Given the description of an element on the screen output the (x, y) to click on. 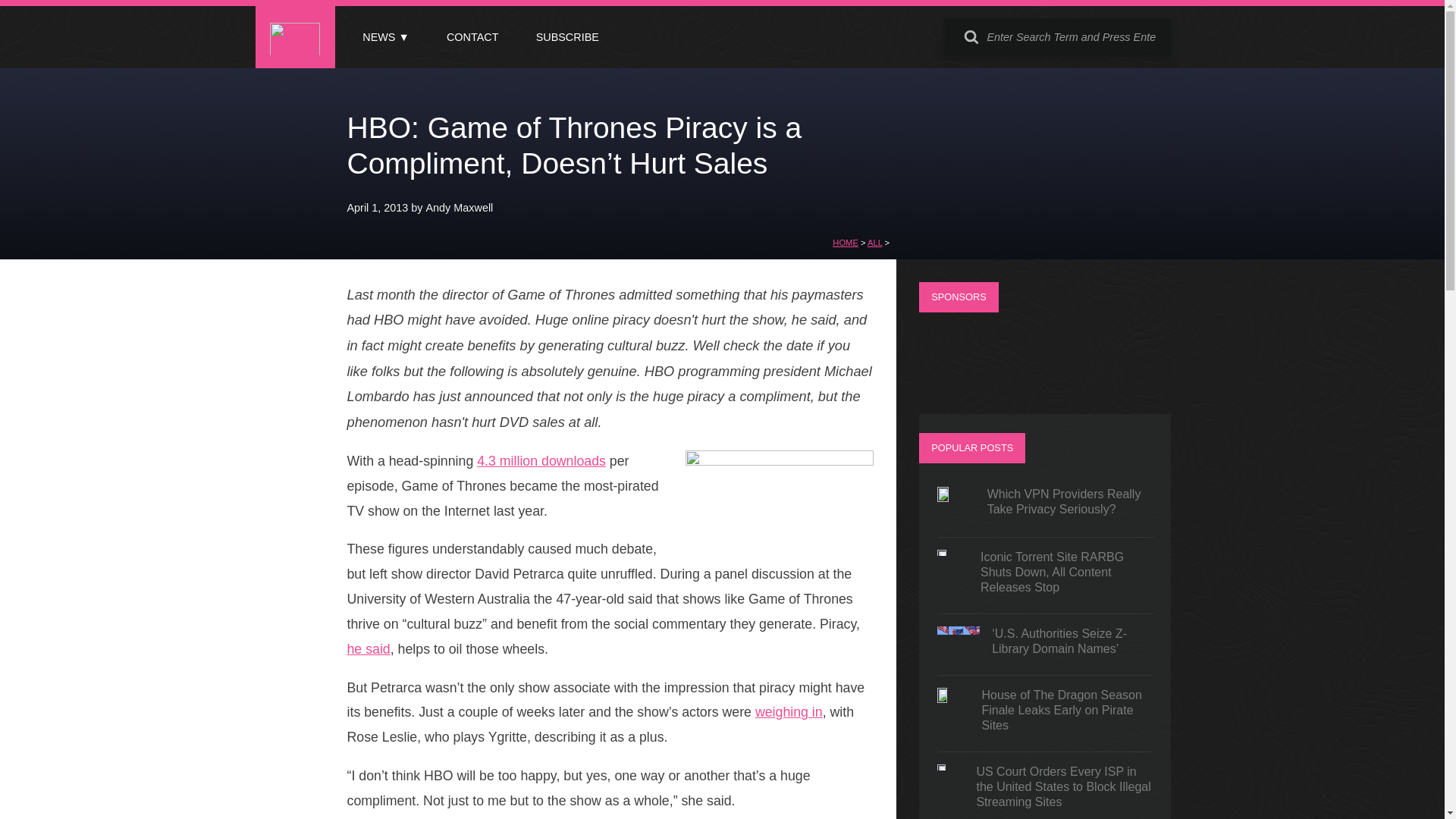
SUBSCRIBE (566, 37)
he said (368, 648)
Go to TorrentFreak. (845, 242)
CONTACT (471, 37)
HOME (845, 242)
weighing in (788, 711)
4.3 million downloads (541, 460)
Andy Maxwell (459, 207)
Which VPN Providers Really Take Privacy Seriously? (1045, 505)
ALL (874, 242)
Go to the All category archives. (874, 242)
